Given the description of an element on the screen output the (x, y) to click on. 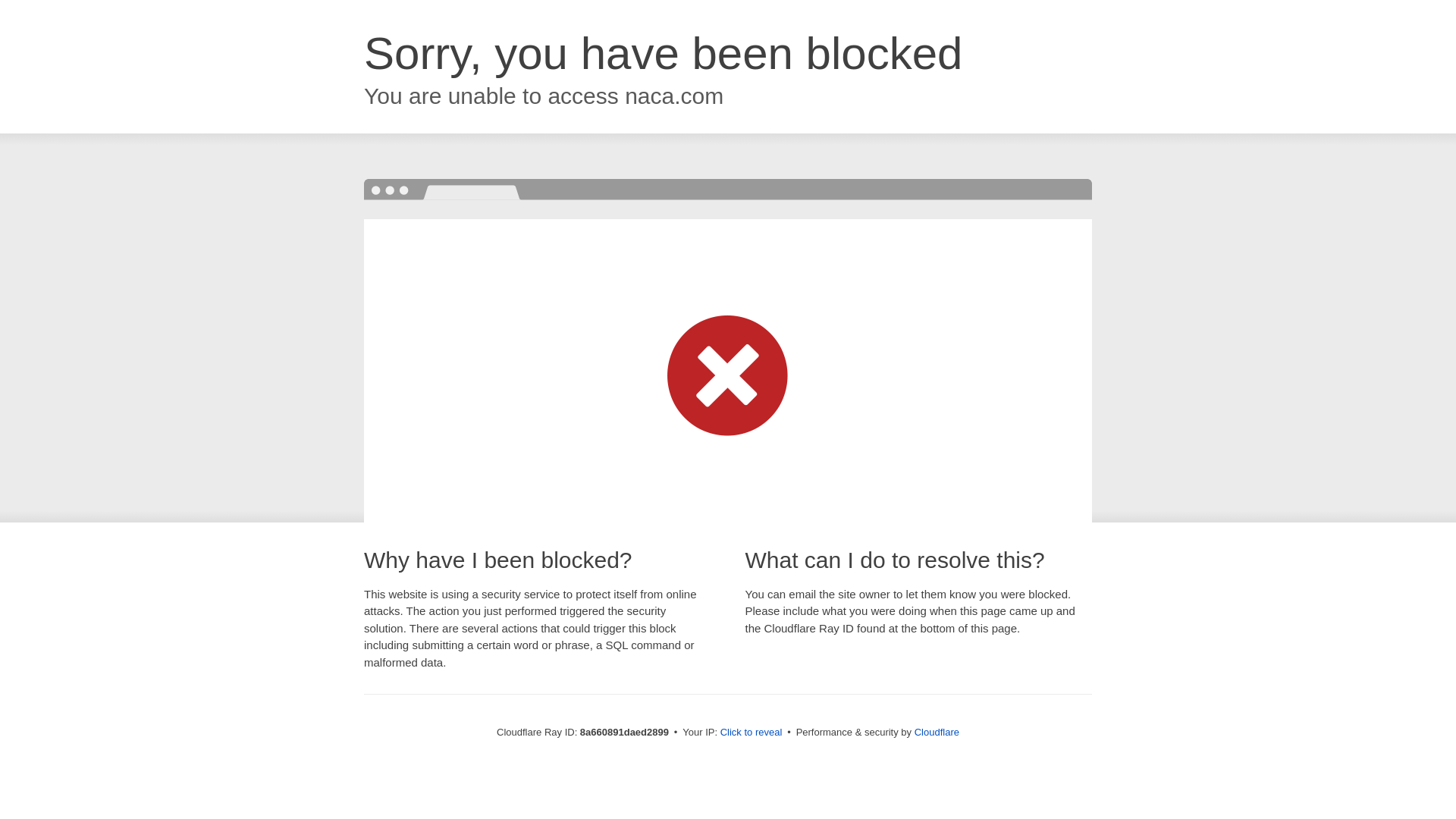
Click to reveal (751, 732)
Cloudflare (936, 731)
